Given the description of an element on the screen output the (x, y) to click on. 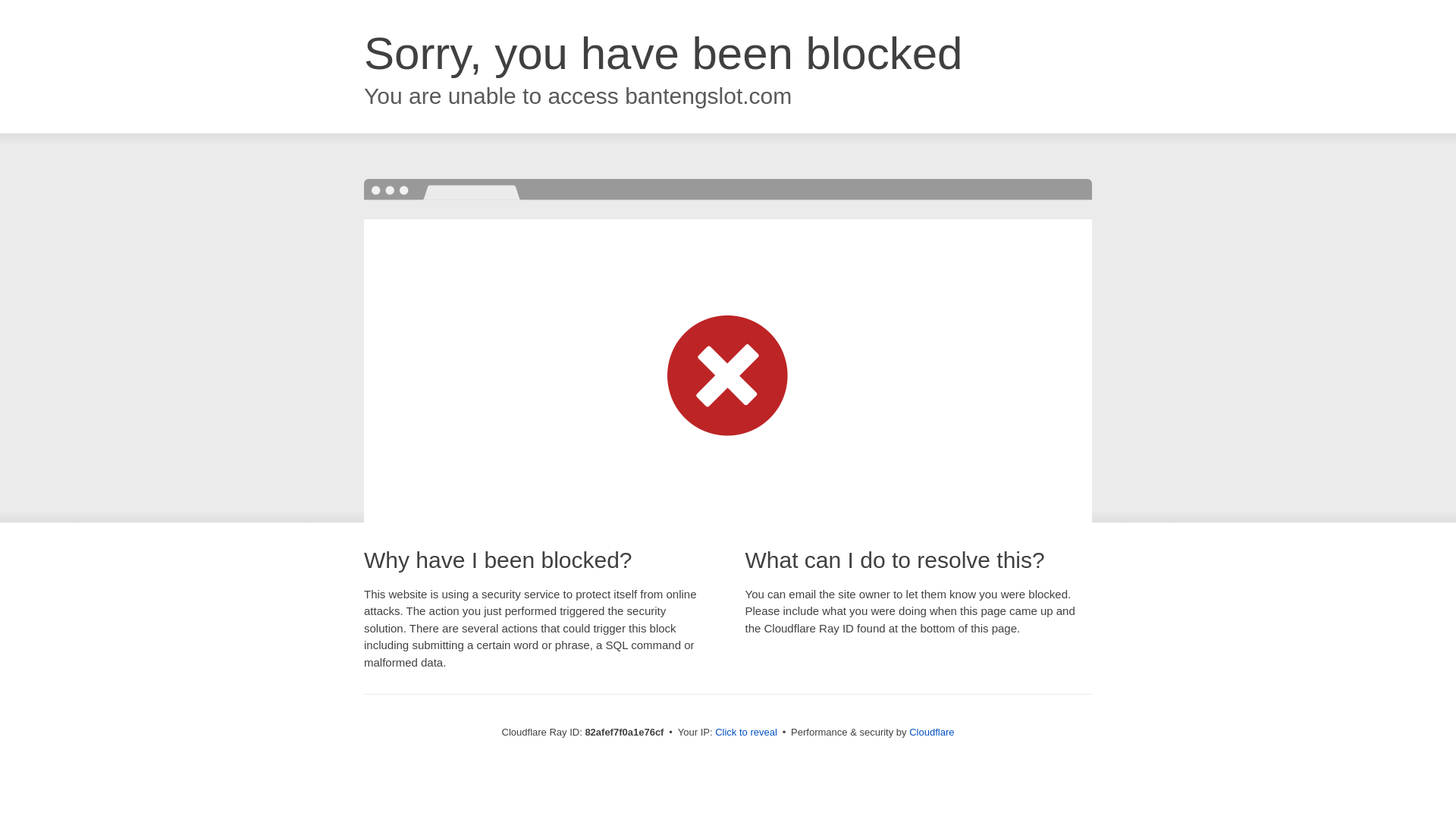
Cloudflare Element type: text (931, 731)
Click to reveal Element type: text (746, 732)
